Given the description of an element on the screen output the (x, y) to click on. 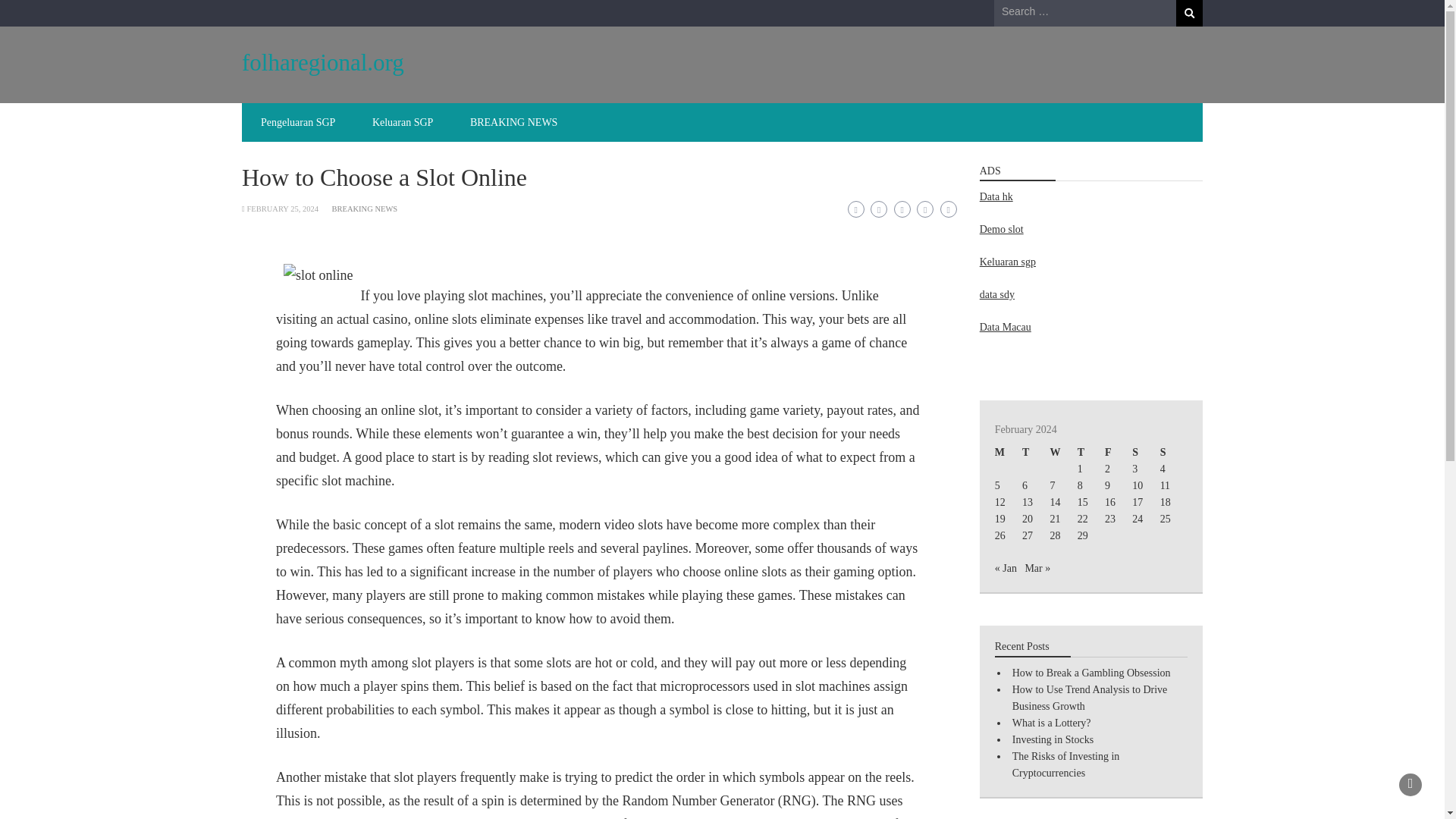
10 (1137, 485)
Search for: (1085, 11)
Monday (1008, 452)
data sdy (996, 294)
Pengeluaran SGP (298, 122)
Tuesday (1035, 452)
Keluaran SGP (402, 122)
folharegional.org (322, 62)
Keluaran sgp (1007, 261)
Search (1189, 13)
Thursday (1091, 452)
Data Macau (1004, 326)
Friday (1118, 452)
Wednesday (1063, 452)
Data hk (996, 196)
